Given the description of an element on the screen output the (x, y) to click on. 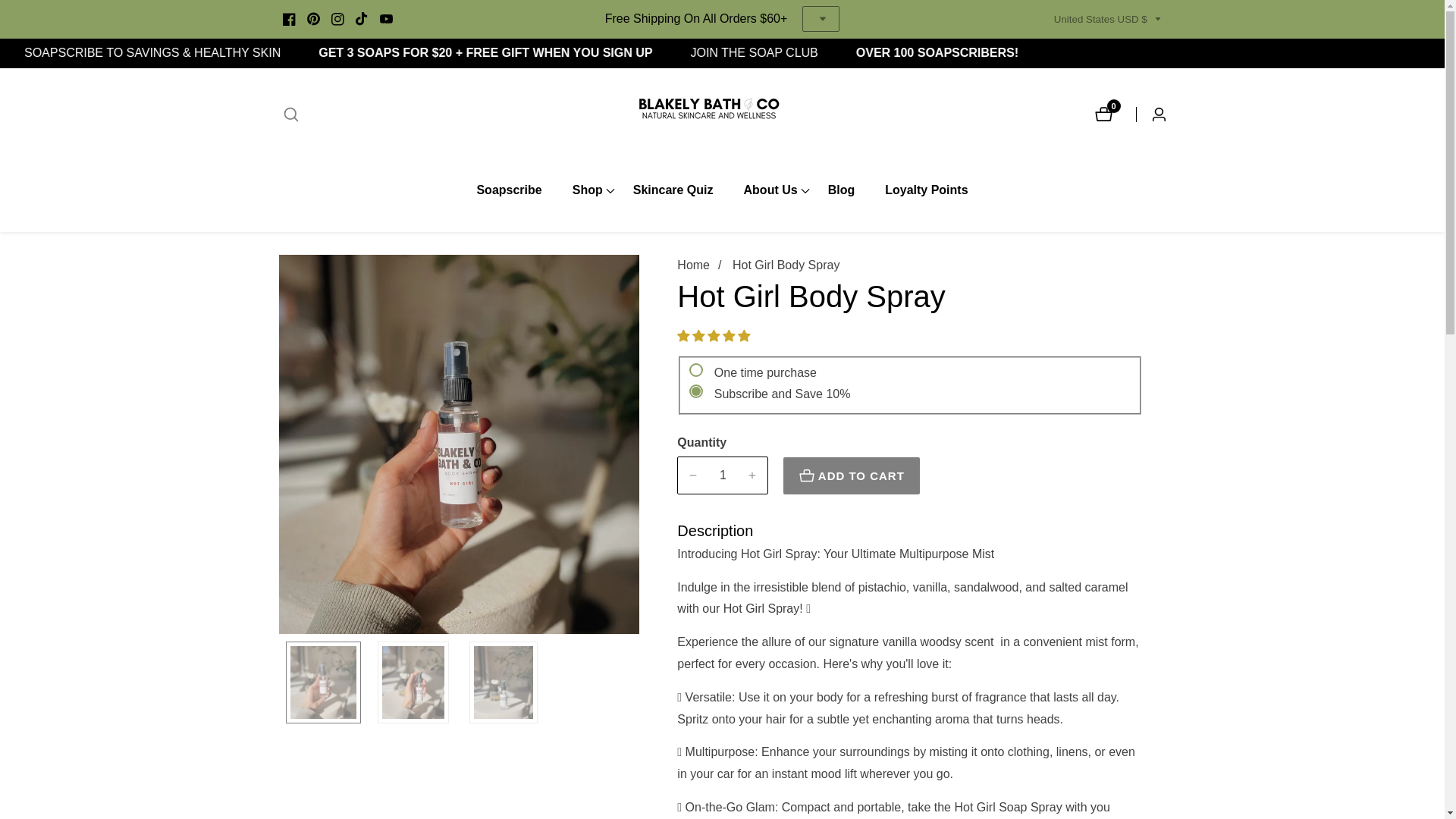
Log in (1150, 114)
Soapscriber (298, 53)
OVER 100 SOAPSCRIBERS! (997, 53)
Skincare Quiz (673, 190)
Caret Down (1155, 18)
OVER 100 SOAPSCRIBERS! (1106, 114)
JOIN THE SOAP CLUB (996, 53)
Soapscriber (816, 53)
JOIN THE SOAP CLUB (529, 53)
JOIN THE SOAP CLUB (815, 53)
TikTok (939, 53)
Soapscribe (362, 18)
SKIP TO CONTENT (508, 190)
Instagram (11, 7)
